Given the description of an element on the screen output the (x, y) to click on. 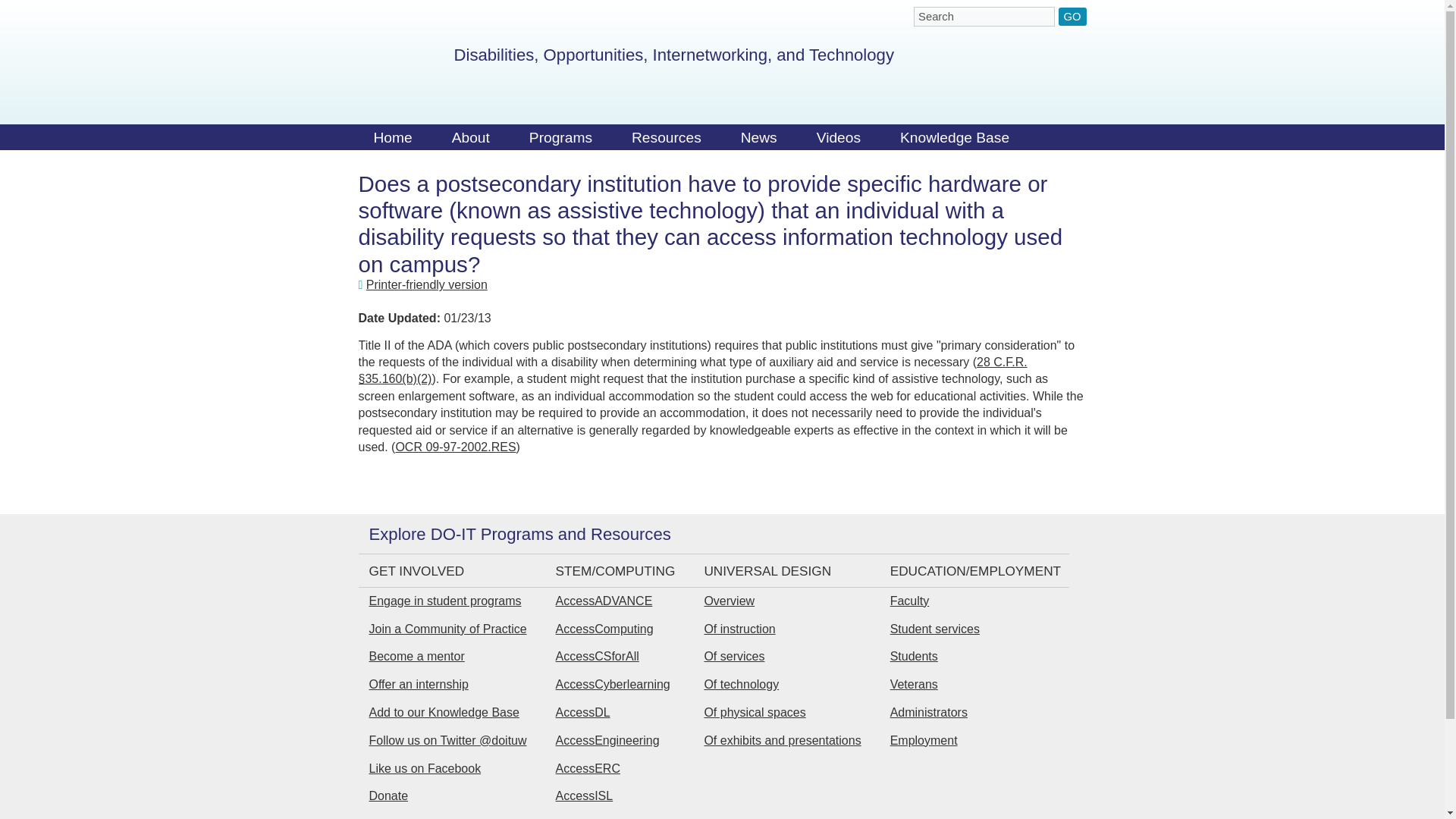
AccessCSforAll (597, 656)
AccessADVANCE (604, 600)
Add to our Knowledge Base (443, 712)
AccessDL (583, 712)
Home (392, 140)
Donate (387, 795)
Offer an internship (417, 684)
Go (1072, 16)
AccessComputing (604, 628)
About (470, 140)
